Given the description of an element on the screen output the (x, y) to click on. 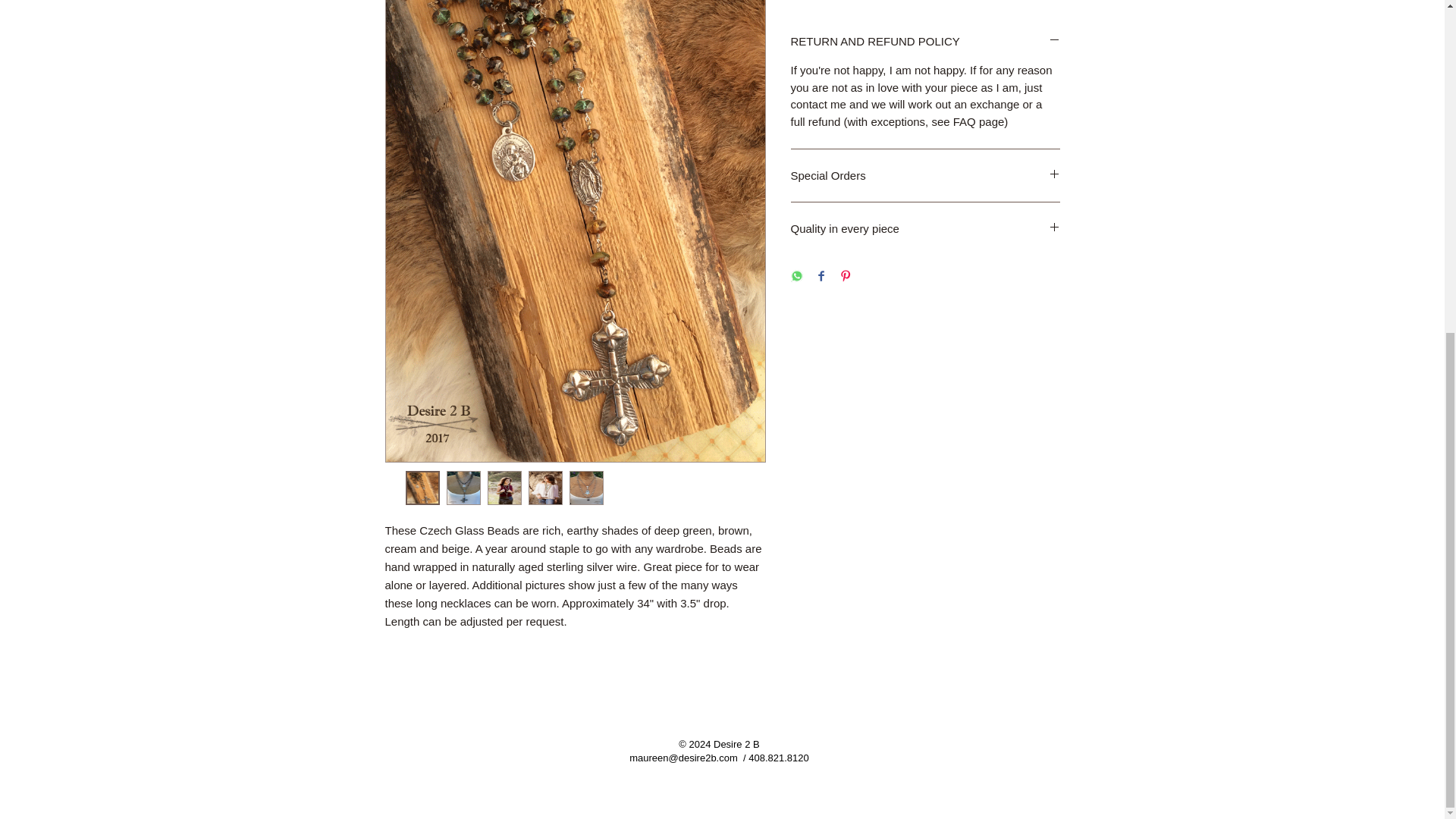
Special Orders (924, 175)
Quality in every piece (924, 228)
RETURN AND REFUND POLICY (924, 41)
